Given the description of an element on the screen output the (x, y) to click on. 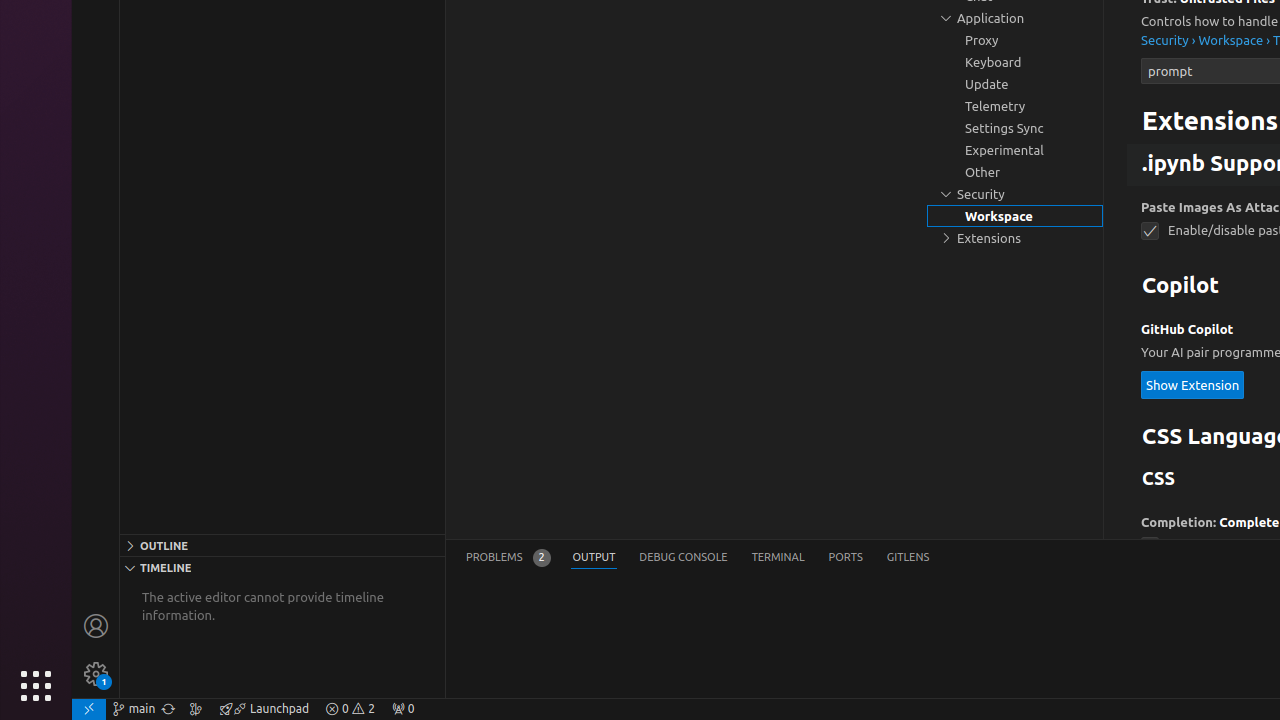
Telemetry, group Element type: tree-item (1015, 106)
Security, group Element type: tree-item (1015, 194)
Outline Section Element type: push-button (282, 545)
Warnings: 2 Element type: push-button (350, 709)
remote Element type: push-button (89, 709)
